Given the description of an element on the screen output the (x, y) to click on. 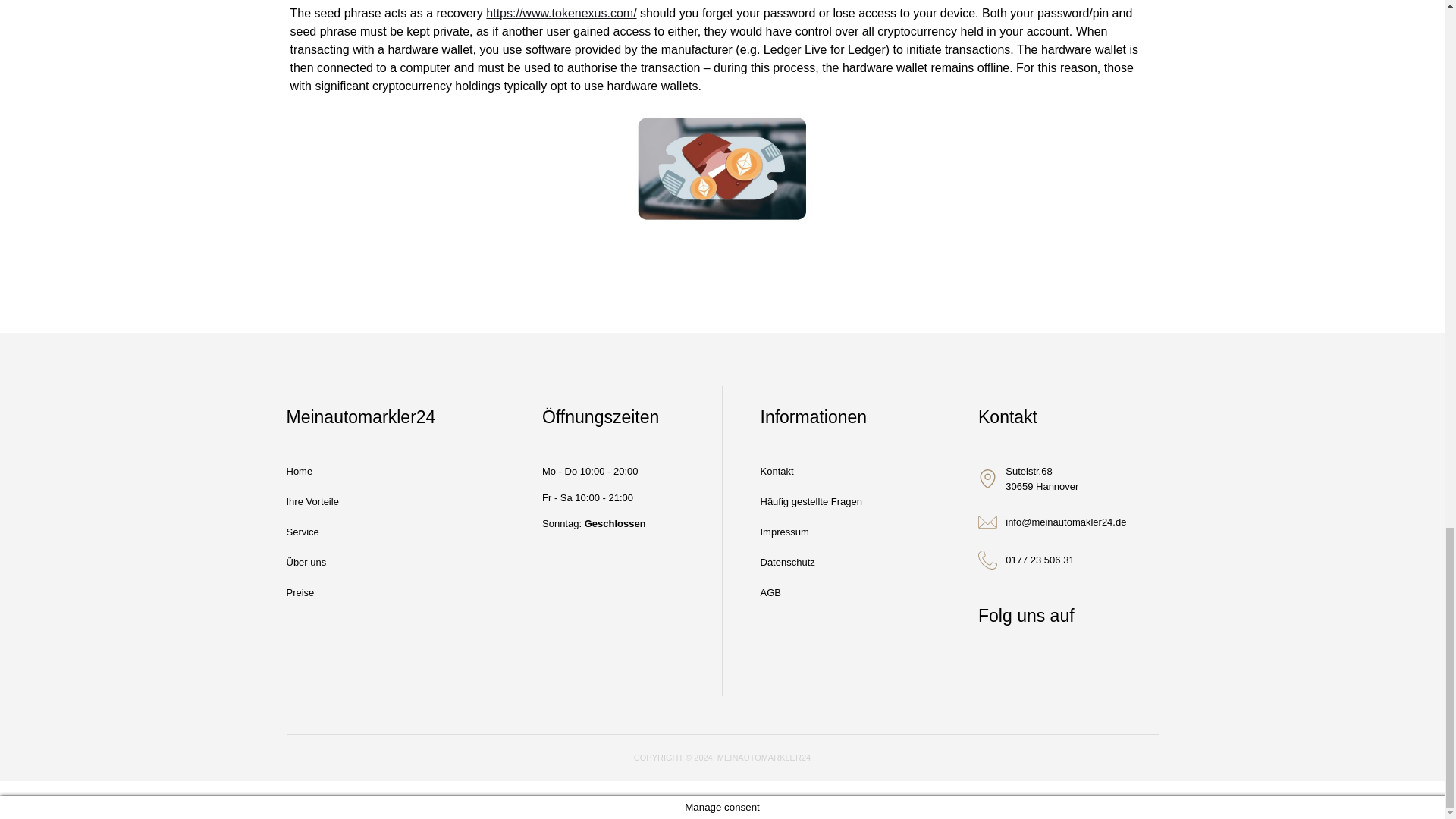
Home (312, 471)
Service (312, 531)
Kontakt (810, 471)
Preise (312, 593)
Ihre Vorteile (312, 501)
